Given the description of an element on the screen output the (x, y) to click on. 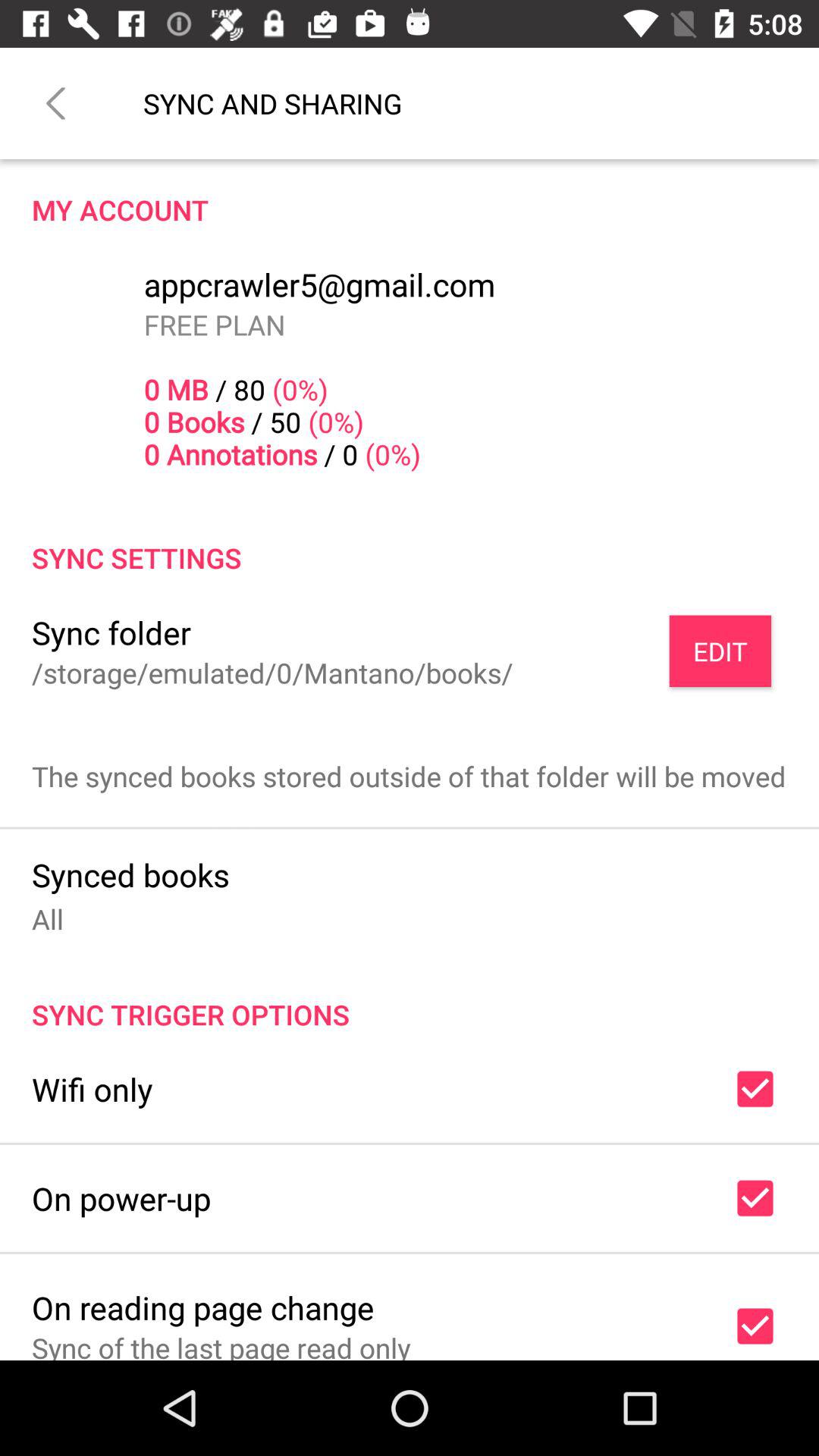
click item above sync trigger options icon (47, 918)
